Given the description of an element on the screen output the (x, y) to click on. 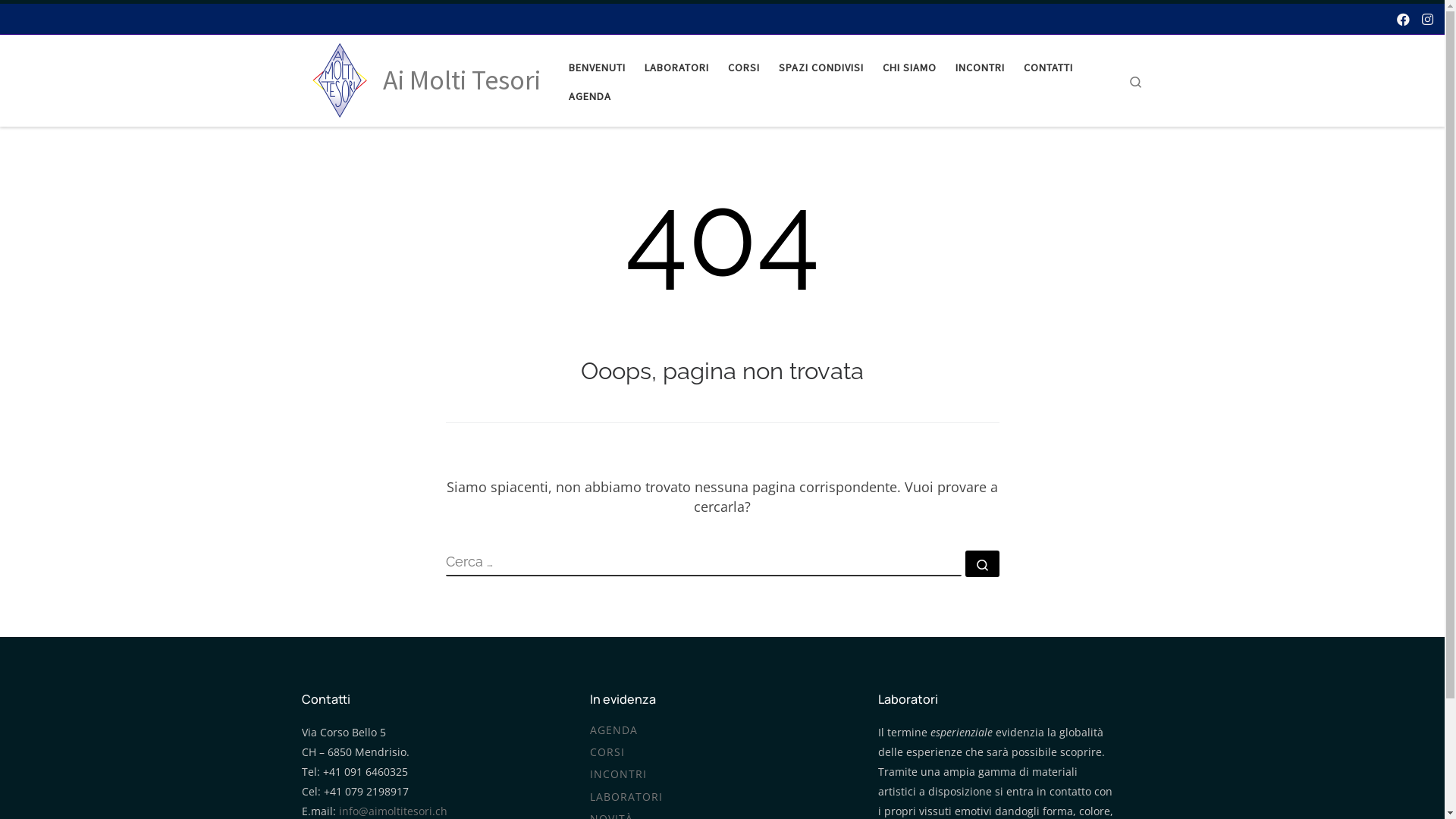
LABORATORI Element type: text (625, 797)
Search Element type: text (1135, 80)
Seguici su Instagram Element type: hover (1427, 17)
CONTATTI Element type: text (1047, 65)
info@aimoltitesori.ch Element type: text (392, 811)
BENVENUTI Element type: text (596, 65)
CHI SIAMO Element type: text (909, 65)
AGENDA Element type: text (613, 730)
AGENDA Element type: text (589, 94)
Seguici su Facebook Element type: hover (1402, 17)
SPAZI CONDIVISI Element type: text (820, 65)
CORSI Element type: text (606, 752)
INCONTRI Element type: text (979, 65)
INCONTRI Element type: text (617, 774)
LABORATORI Element type: text (676, 65)
Passa al contenuto Element type: text (65, 21)
CORSI Element type: text (743, 65)
Ai Molti Tesori Element type: text (460, 80)
